Given the description of an element on the screen output the (x, y) to click on. 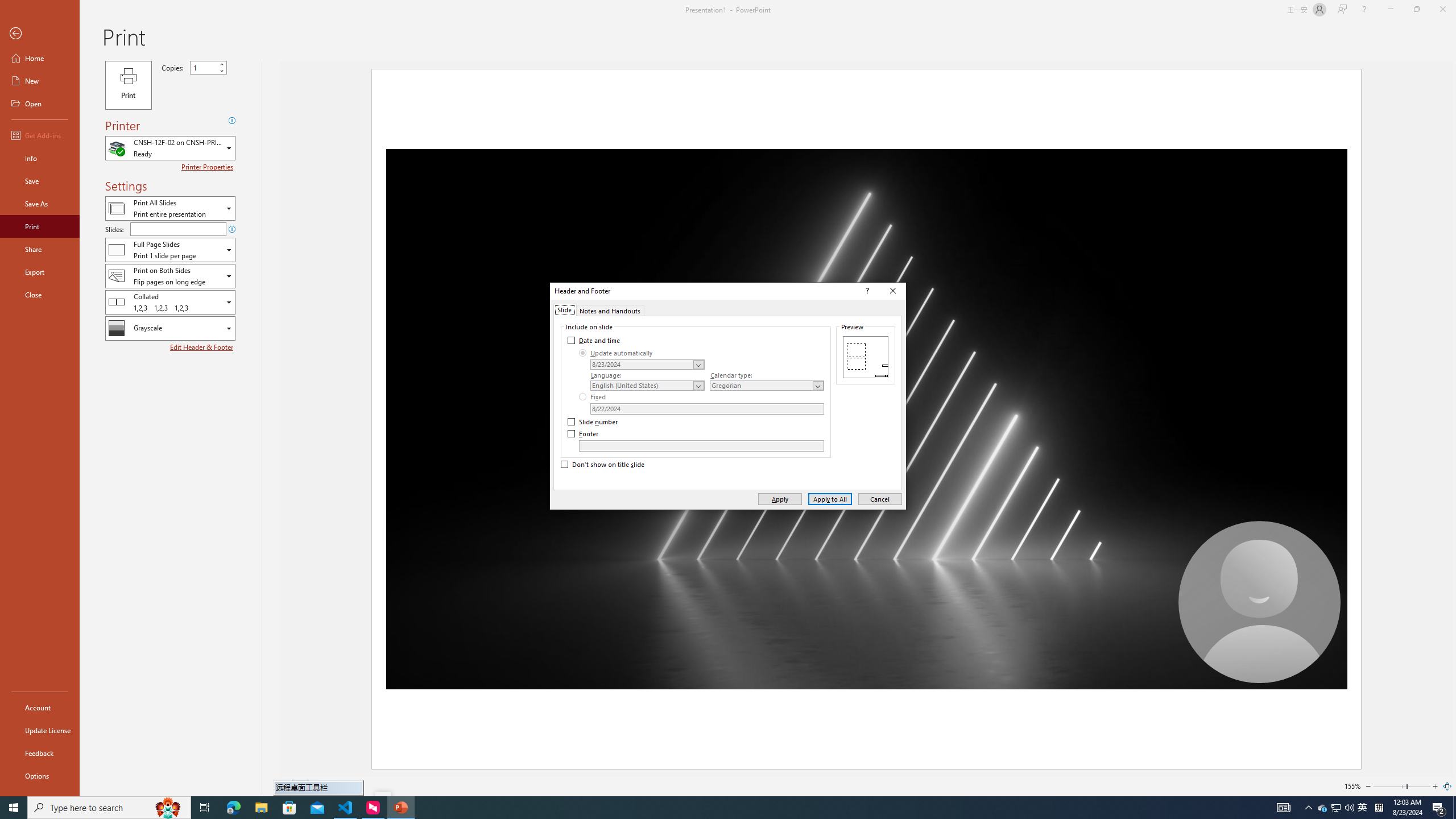
Copies (203, 67)
Edit Header & Footer (202, 347)
Calendar type (767, 385)
Get Add-ins (40, 134)
Info (40, 157)
Previous Page (285, 786)
Page left (1389, 786)
Context help (866, 290)
Slides and Handouts (169, 249)
Format Date and Time (646, 364)
